Given the description of an element on the screen output the (x, y) to click on. 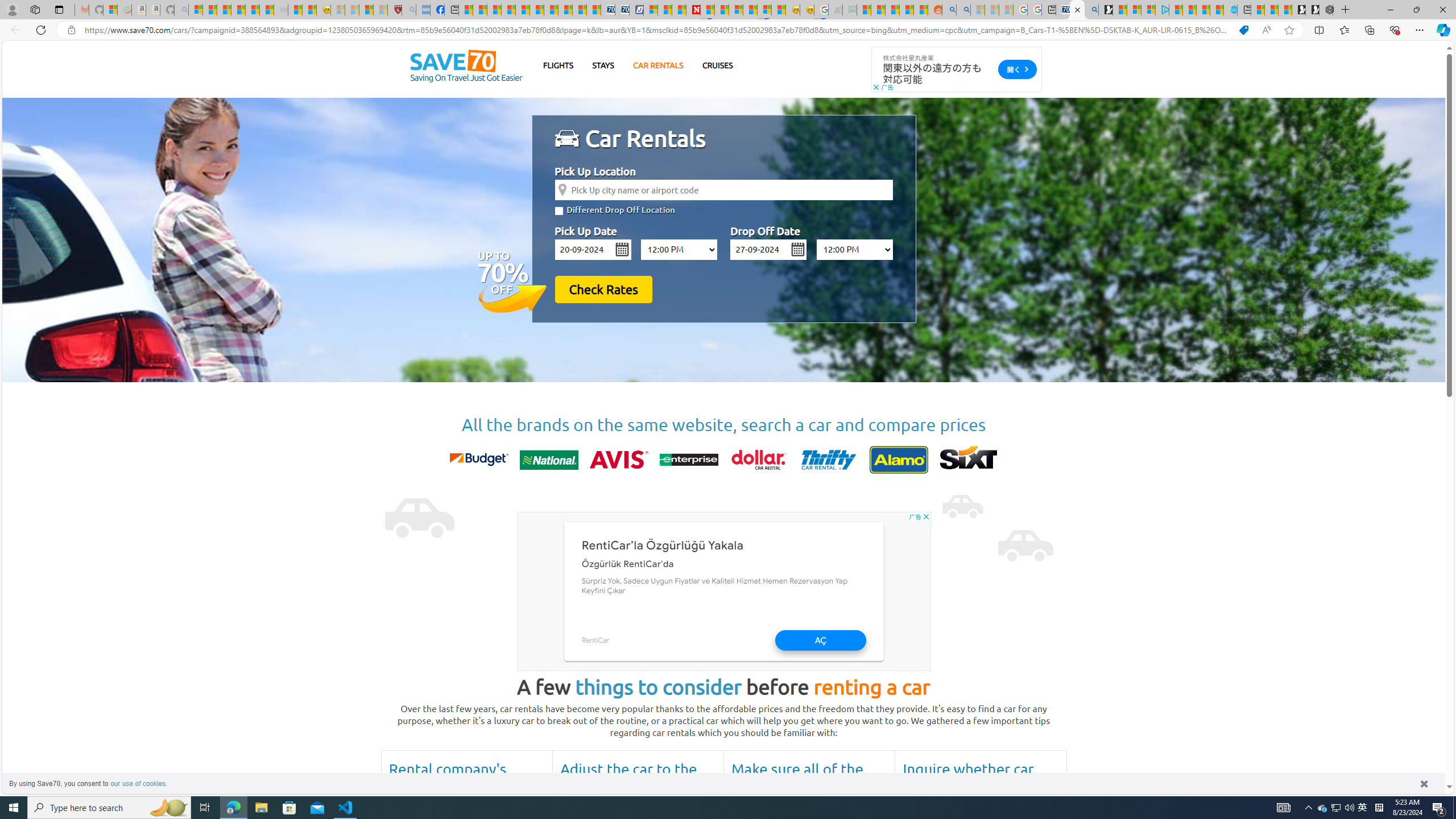
Close tab (1077, 9)
Navy Quest (835, 9)
